Given the description of an element on the screen output the (x, y) to click on. 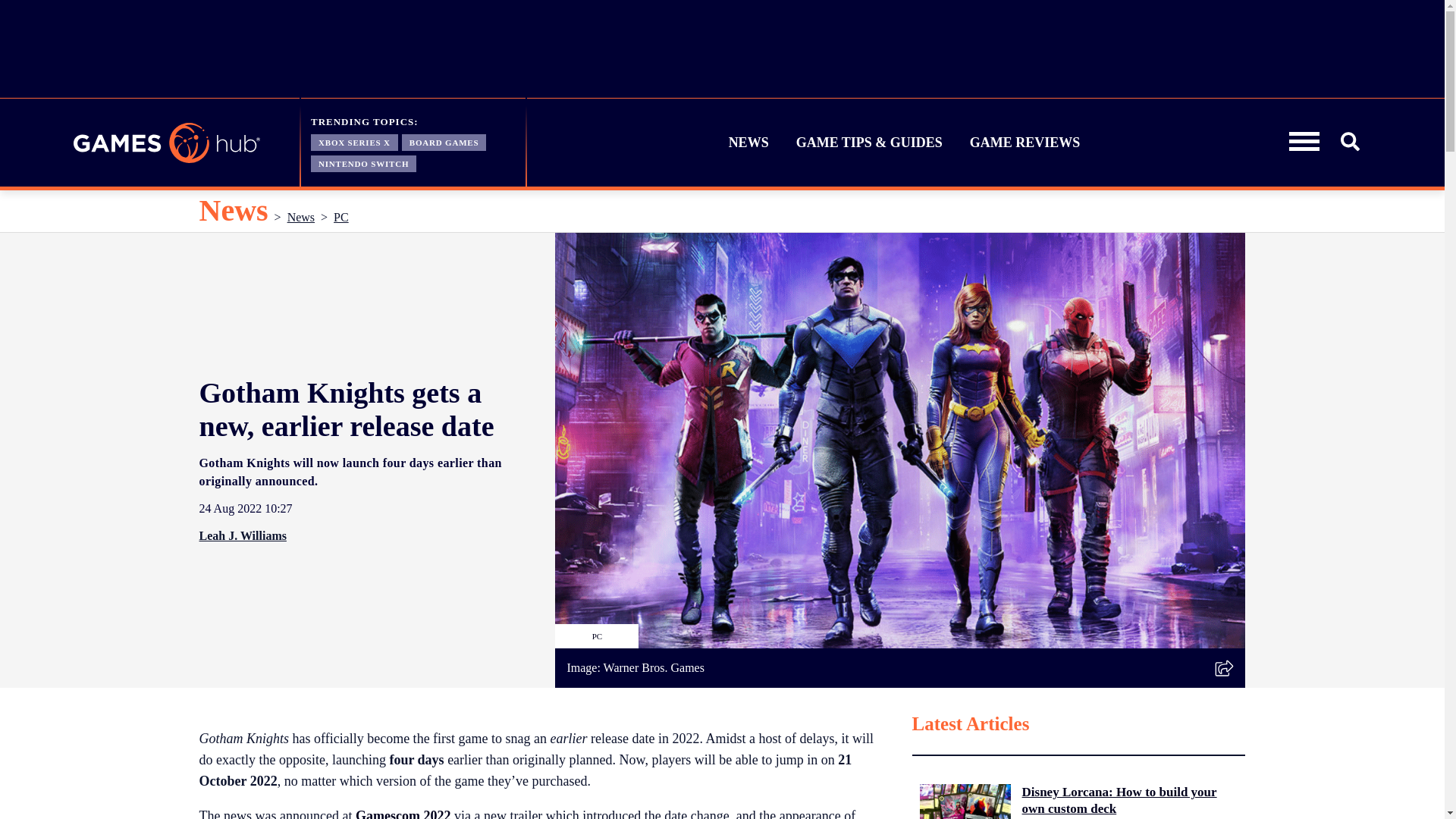
NEWS (748, 142)
BOARD GAMES (443, 141)
XBOX SERIES X (354, 141)
NINTENDO SWITCH (363, 162)
GAME REVIEWS (1025, 142)
